Given the description of an element on the screen output the (x, y) to click on. 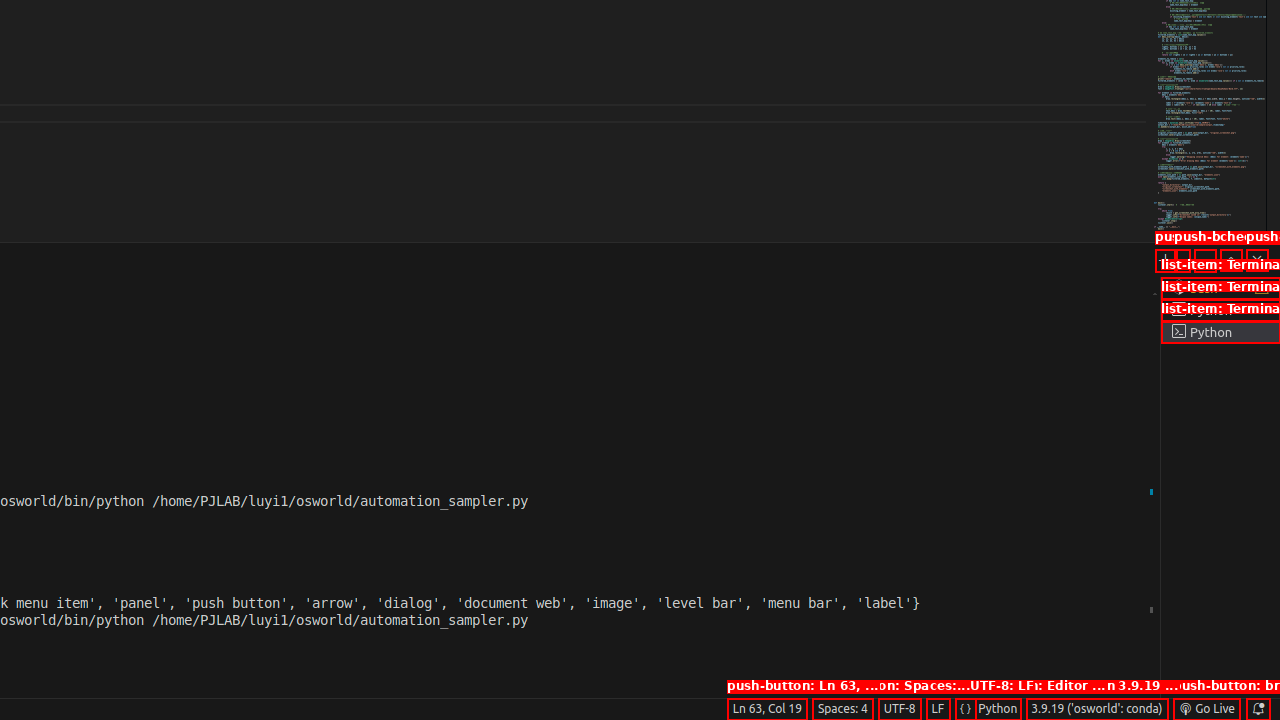
Hide Panel Element type: push-button (1257, 260)
Editor Language Status: Auto Import Completions: false, next: Type Checking: off Element type: push-button (965, 709)
UTF-8 Element type: push-button (899, 709)
Terminal 5 Python Element type: list-item (1220, 332)
broadcast Go Live, Click to run live server Element type: push-button (1206, 709)
